Given the description of an element on the screen output the (x, y) to click on. 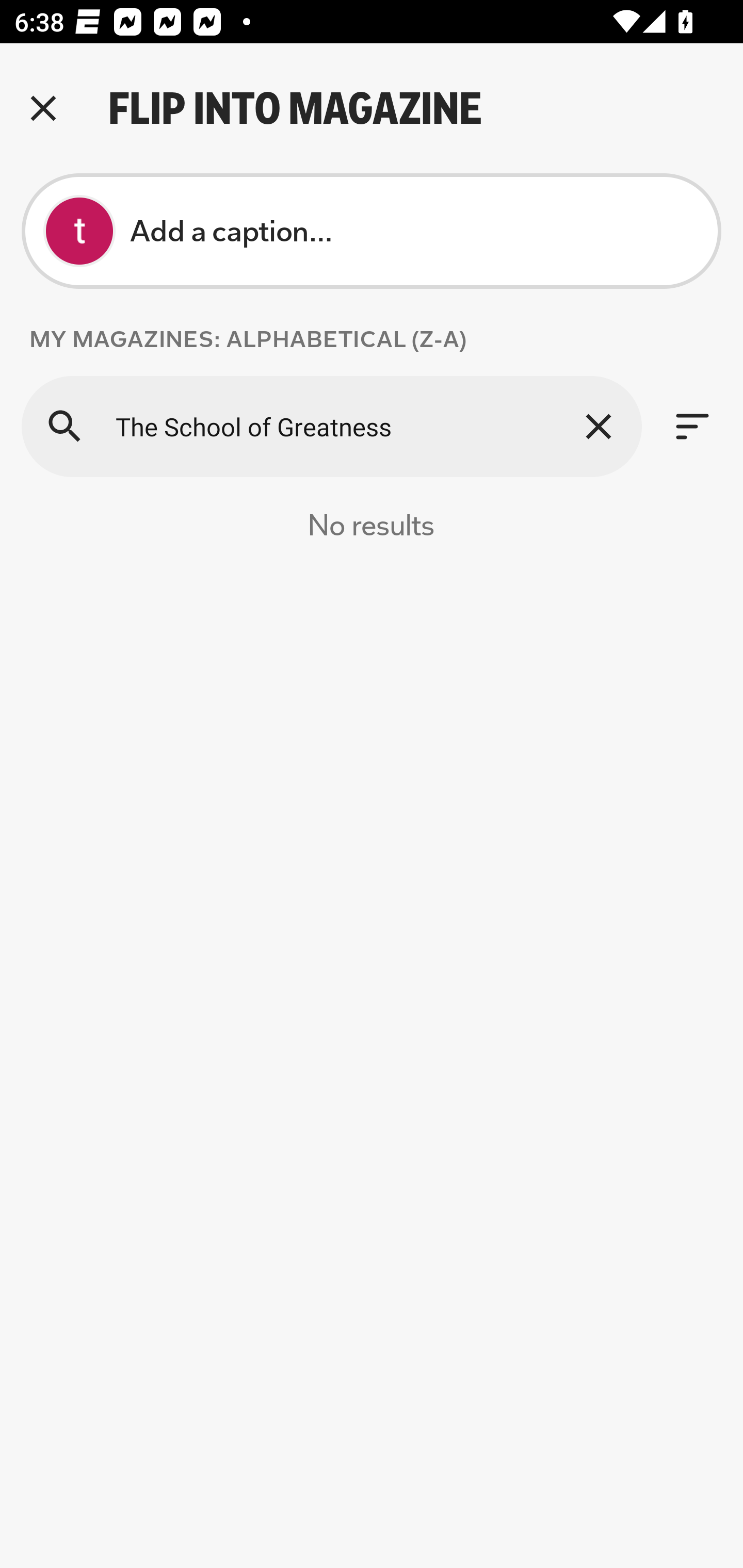
test appium Add a caption… (371, 231)
The School of Greatness Search (331, 426)
